Given the description of an element on the screen output the (x, y) to click on. 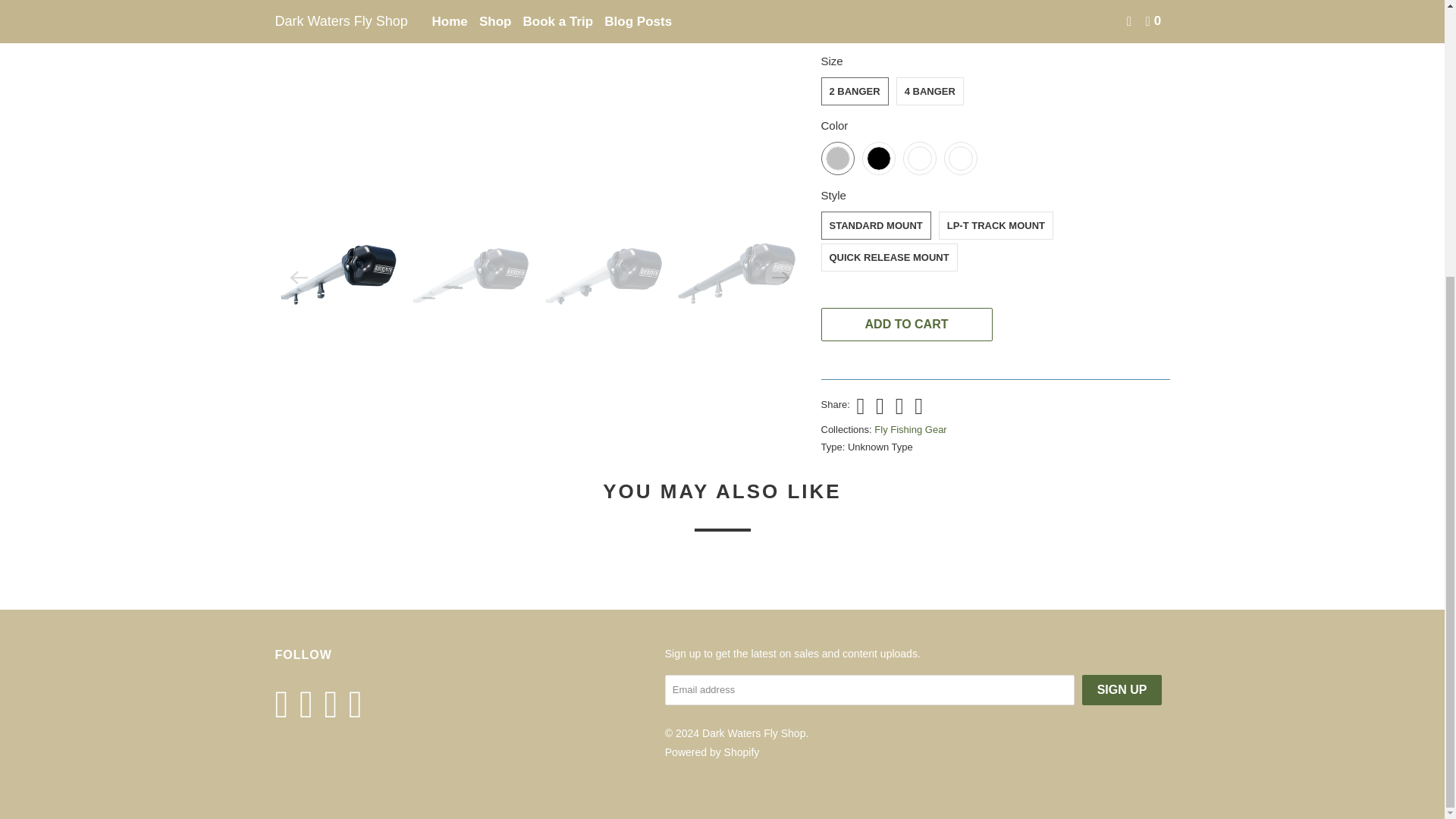
Sign Up (1121, 689)
RiverSmith Rod Roof Rack (540, 98)
